Given the description of an element on the screen output the (x, y) to click on. 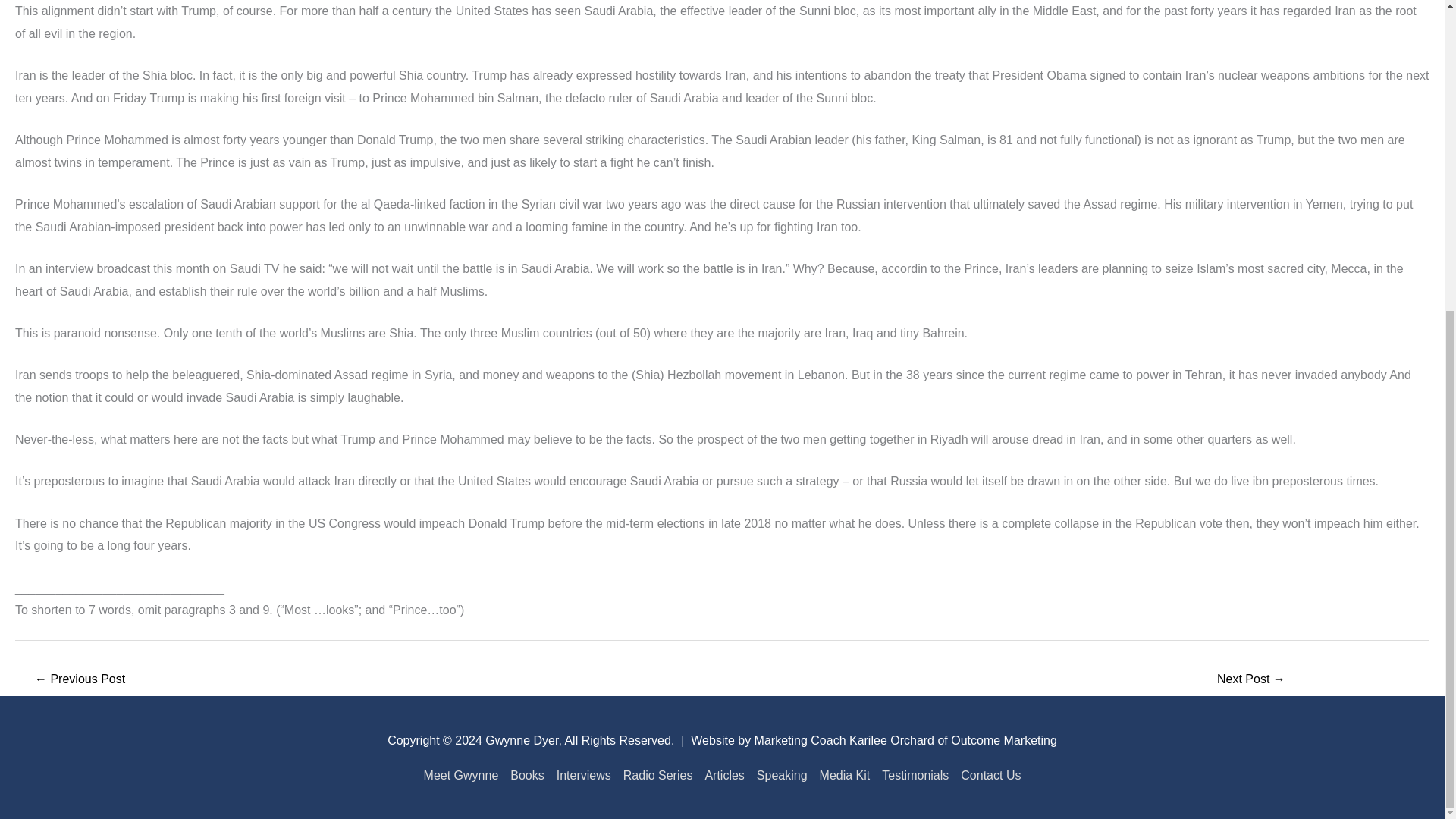
Radio Series (657, 775)
Media Kit (844, 775)
Meet Gwynne (464, 775)
Books (526, 775)
Interviews (583, 775)
Venezuela: Drifting Towards Civil War (79, 680)
Articles (723, 775)
Speaking (782, 775)
The Turkish Referendum (1251, 680)
Testimonials (915, 775)
